Given the description of an element on the screen output the (x, y) to click on. 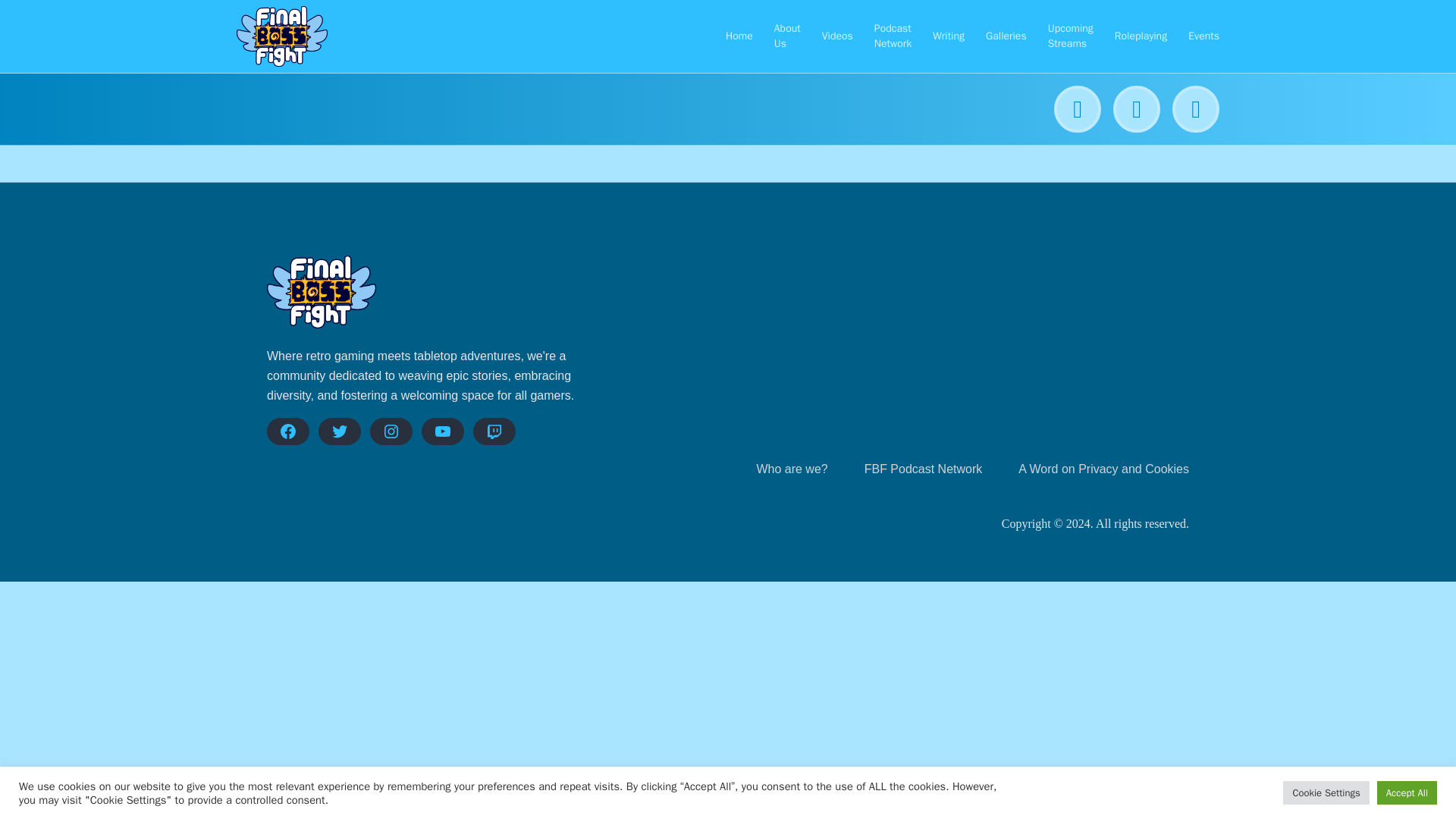
FBF Podcast Network (923, 468)
YouTube (443, 431)
Who are we? (791, 468)
Twitter (339, 431)
Twitch (494, 431)
Roleplaying (1141, 35)
Facebook (287, 431)
A Word on Privacy and Cookies (1103, 468)
Instagram (390, 431)
